Given the description of an element on the screen output the (x, y) to click on. 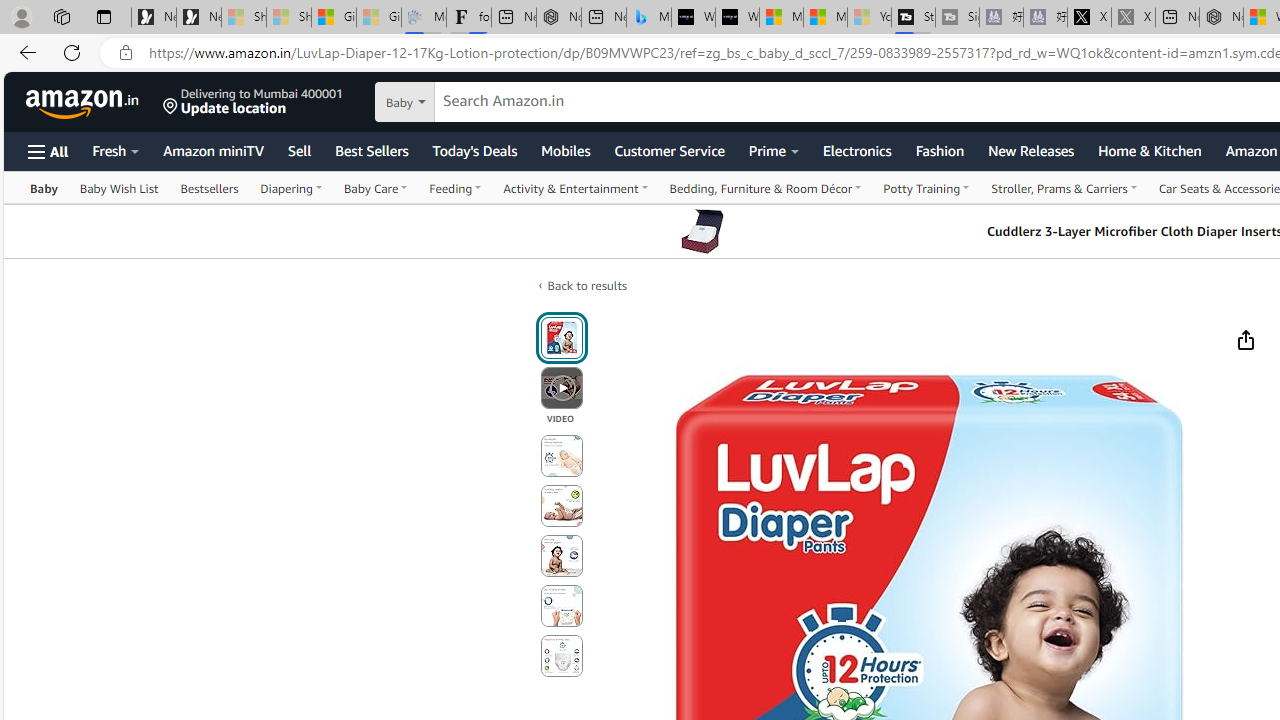
Customer Service (669, 150)
Search in (476, 102)
Baby (44, 187)
Back to results (586, 285)
